Given the description of an element on the screen output the (x, y) to click on. 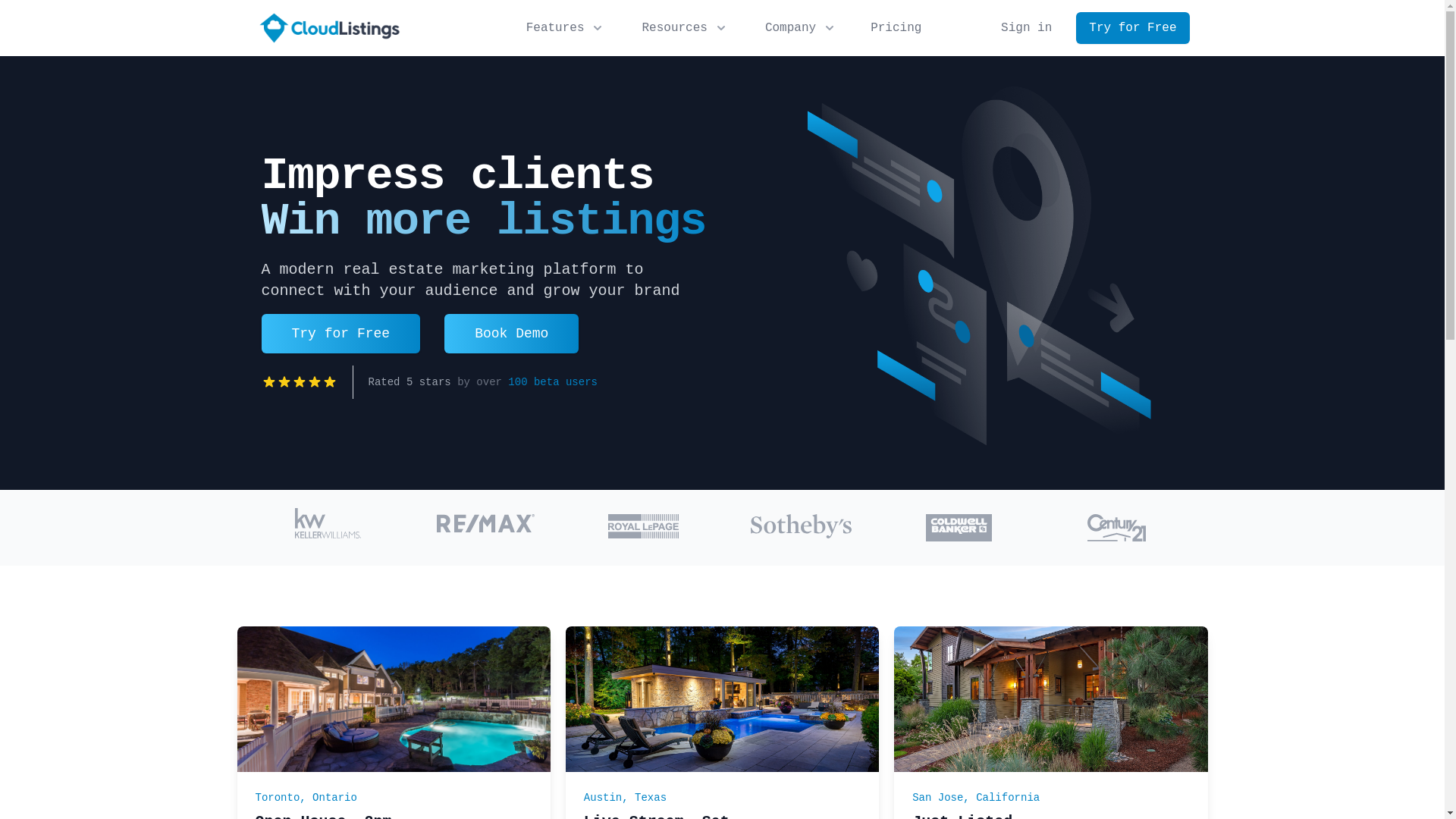
Book Demo Element type: text (511, 333)
Company Element type: text (801, 27)
Try for Free Element type: text (1132, 27)
Try for Free Element type: text (340, 333)
CloudListings Element type: text (328, 27)
Features Element type: text (565, 27)
Pricing Element type: text (895, 27)
Resources Element type: text (684, 27)
Sign in Element type: text (1026, 27)
